Given the description of an element on the screen output the (x, y) to click on. 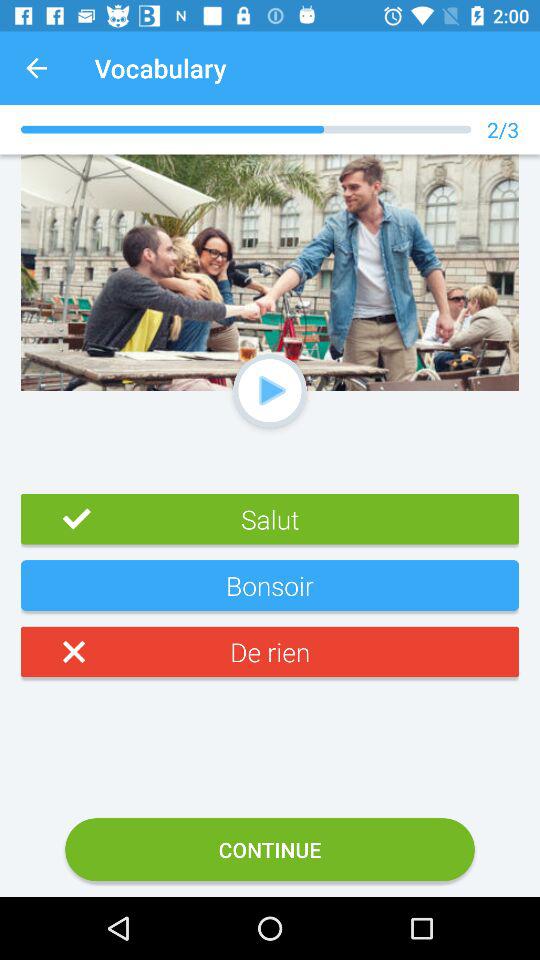
select the option continue (269, 849)
select the option bonsoir (269, 592)
click on text above bonsoir (269, 526)
